Given the description of an element on the screen output the (x, y) to click on. 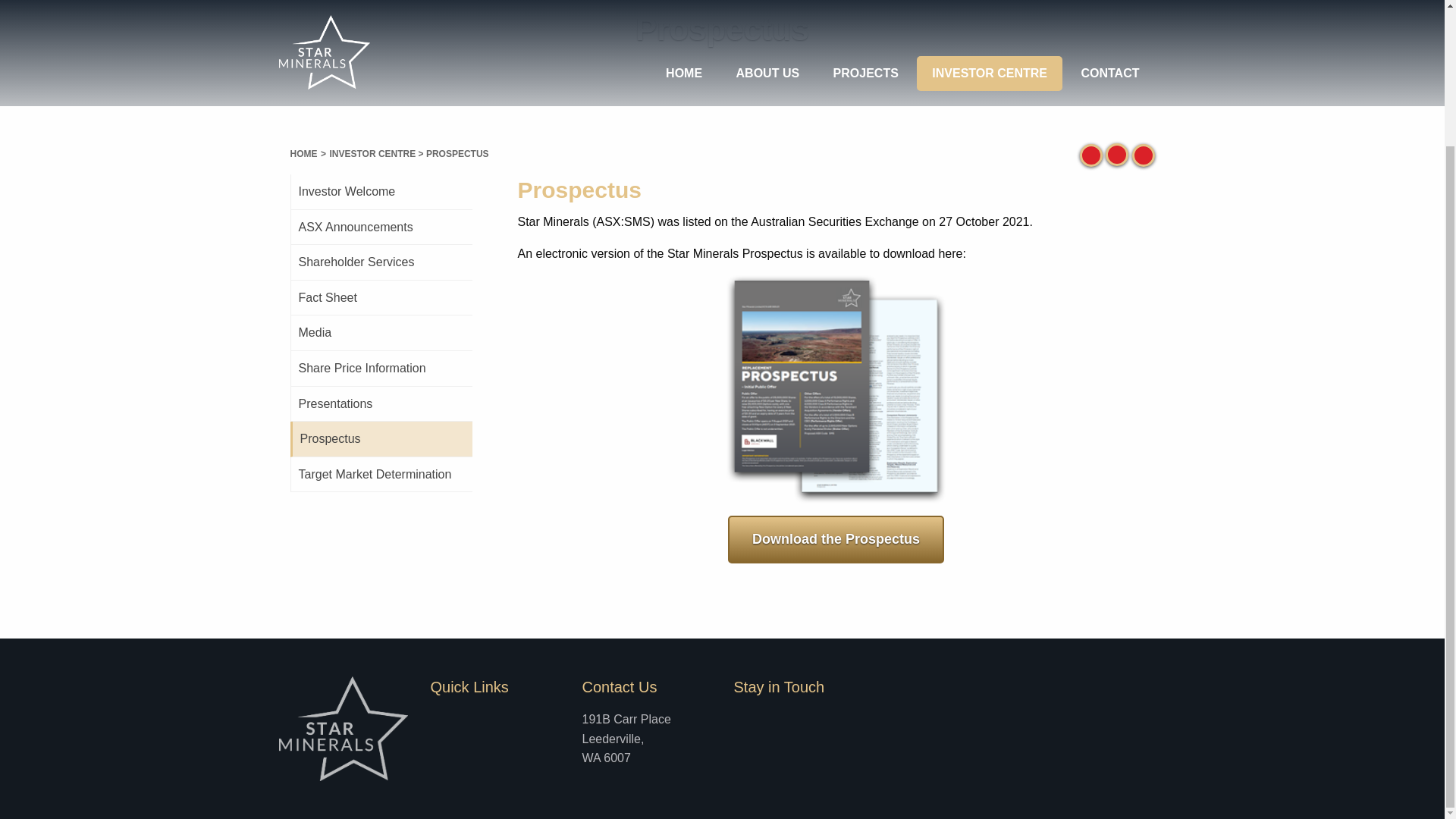
ASX Announcements (380, 227)
Star Minerals PROSPECTUS  (835, 388)
HOME (303, 152)
PROSPECTUS (456, 153)
Investor Welcome (380, 191)
INVESTOR CENTRE (371, 153)
Print Page (1091, 155)
Star Minerals Prospectus (835, 539)
Font Larger (1142, 155)
Font Smaller (1116, 154)
